Given the description of an element on the screen output the (x, y) to click on. 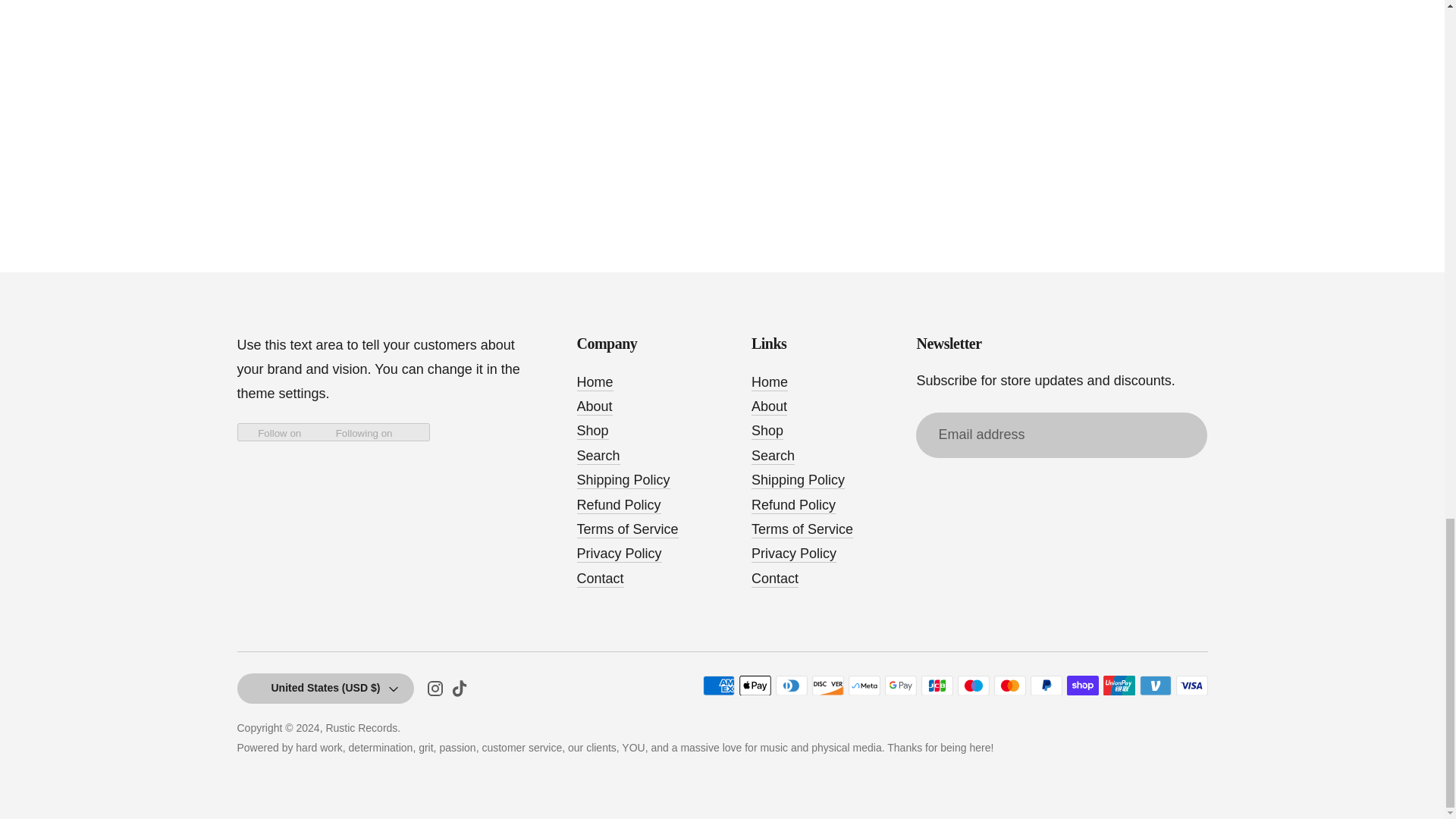
Rustic Records on Tiktok (458, 691)
American Express (717, 685)
Google Pay (899, 685)
Rustic Records on Instagram (435, 691)
Maestro (972, 685)
Mastercard (1008, 685)
Discover (826, 685)
Apple Pay (754, 685)
Diners Club (790, 685)
Meta Pay (863, 685)
PayPal (1045, 685)
JCB (936, 685)
